Given the description of an element on the screen output the (x, y) to click on. 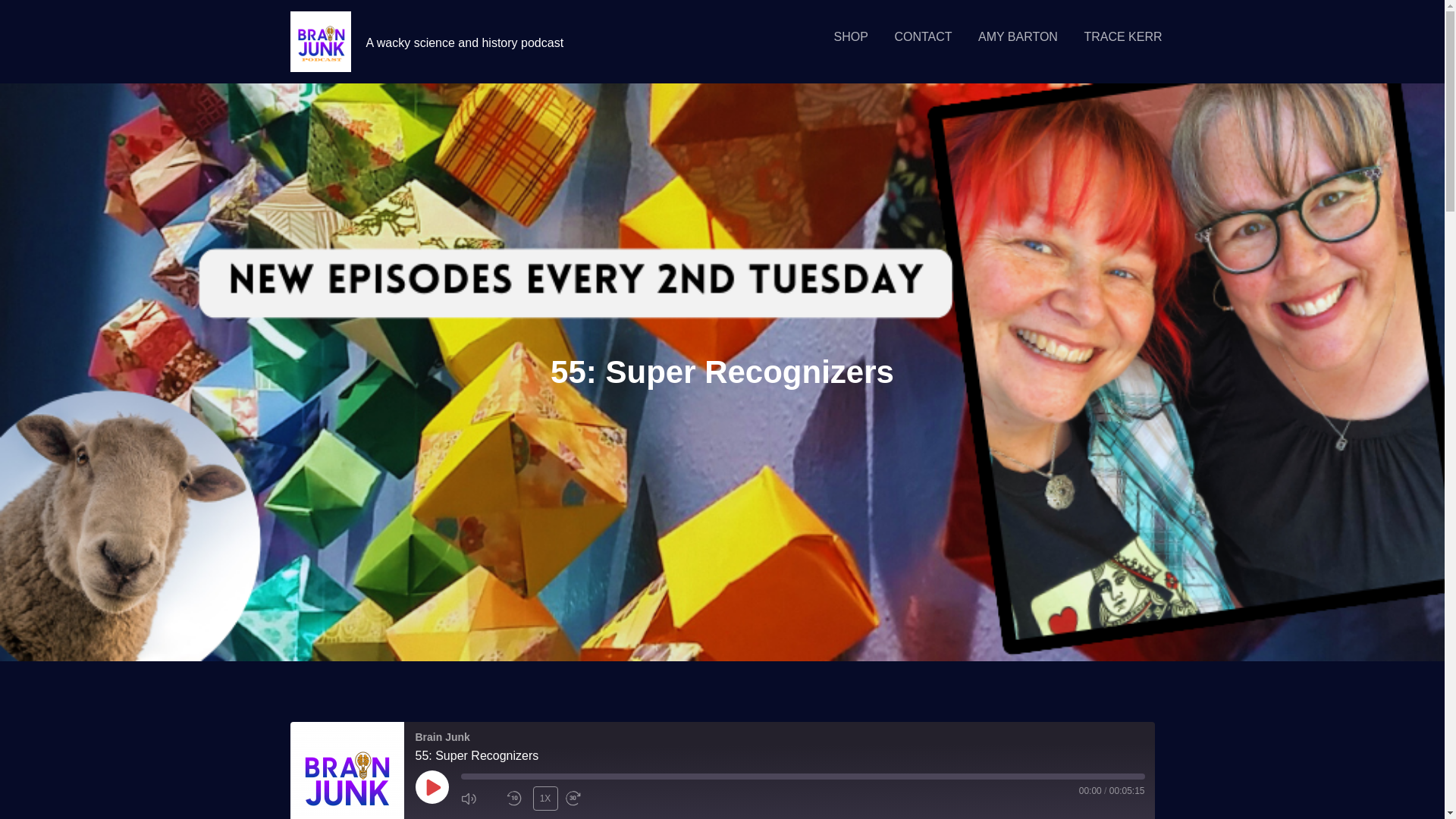
Subscribe (488, 816)
Rewind 10 seconds (515, 798)
SHARE (548, 816)
AMY BARTON (1018, 36)
REWIND 10 SECONDS (515, 798)
SHOP (850, 36)
Brain Junk (346, 770)
SUBSCRIBE (488, 816)
CONTACT (922, 36)
FAST FORWARD 30 SECONDS (585, 798)
1X (544, 798)
Fast Forward 30 seconds (585, 798)
Play (431, 786)
Share (548, 816)
PLAY EPISODE (431, 786)
